Given the description of an element on the screen output the (x, y) to click on. 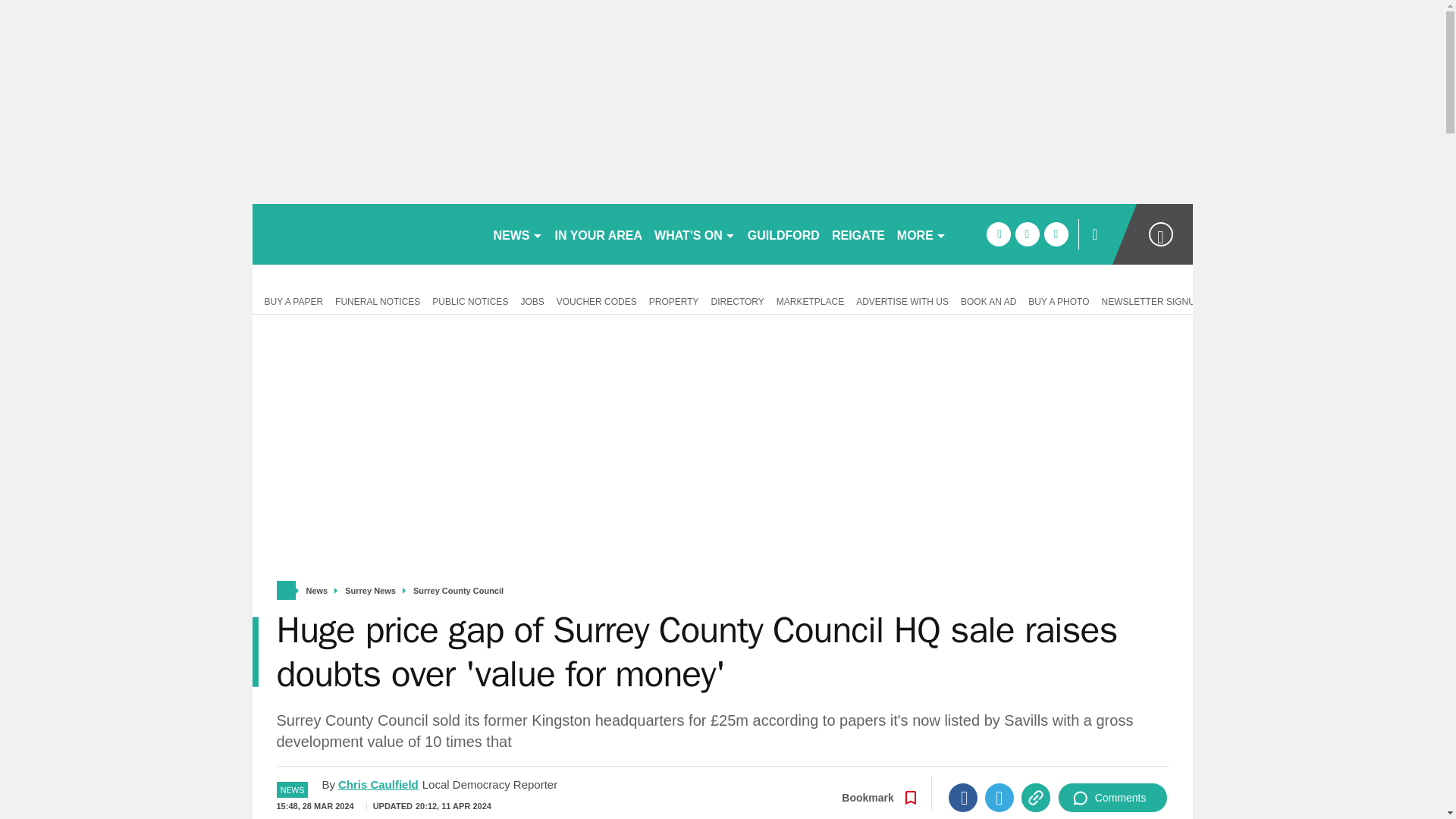
Facebook (962, 797)
Twitter (999, 797)
GUILDFORD (783, 233)
getsurrey (365, 233)
WHAT'S ON (694, 233)
IN YOUR AREA (598, 233)
instagram (1055, 233)
PUBLIC NOTICES (469, 300)
facebook (997, 233)
PROPERTY (673, 300)
